Given the description of an element on the screen output the (x, y) to click on. 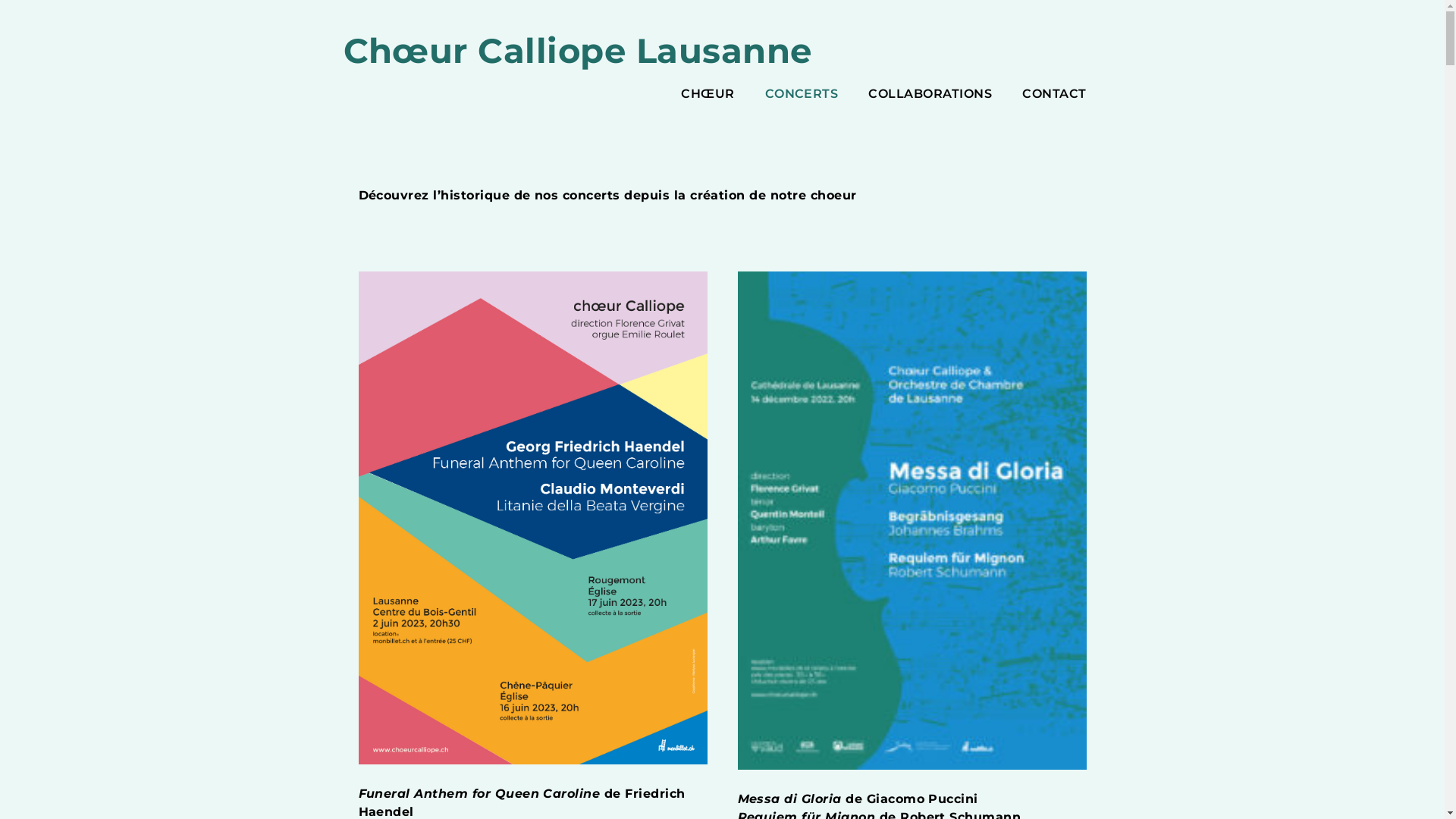
CONTACT Element type: text (1054, 93)
COLLABORATIONS Element type: text (930, 93)
CONCERTS Element type: text (801, 93)
